Given the description of an element on the screen output the (x, y) to click on. 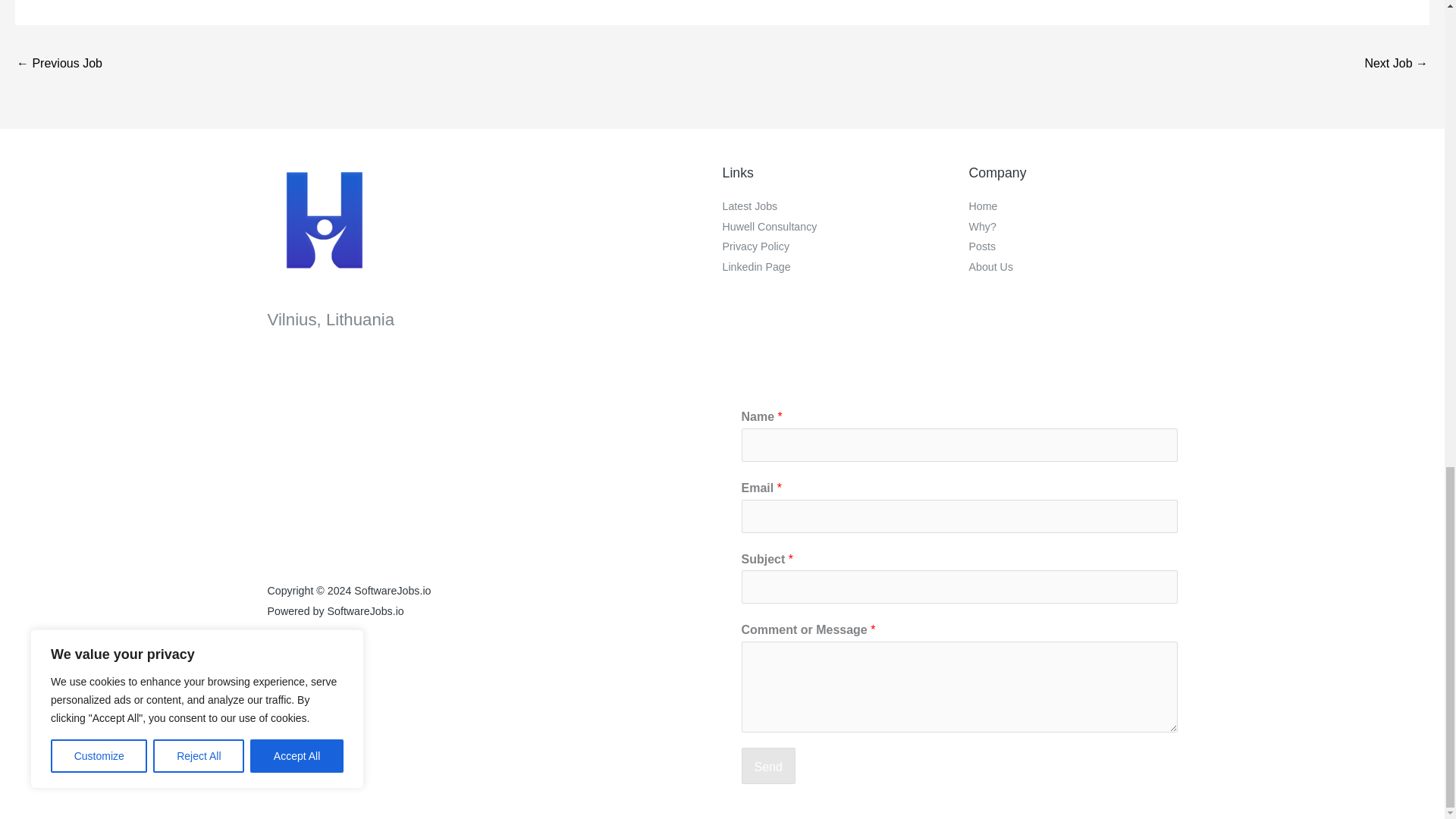
Linkedin Page (756, 266)
About Us (991, 266)
Posts (982, 246)
Latest Jobs (749, 205)
Why? (982, 226)
Home (983, 205)
Huwell Consultancy (769, 226)
Privacy Policy (755, 246)
